Given the description of an element on the screen output the (x, y) to click on. 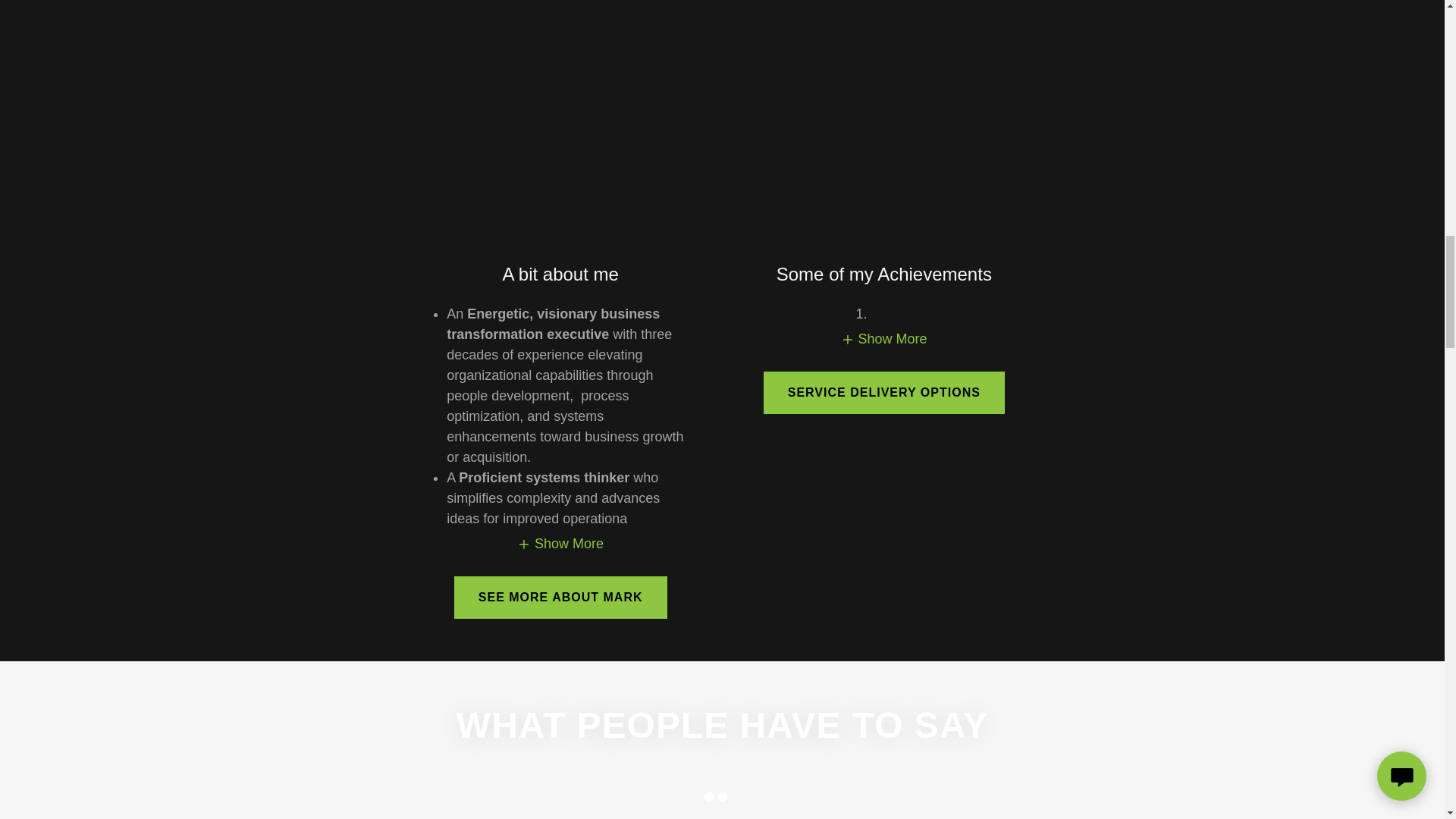
SEE MORE ABOUT MARK (560, 597)
Show More (560, 543)
SERVICE DELIVERY OPTIONS (883, 392)
Show More (884, 338)
